Given the description of an element on the screen output the (x, y) to click on. 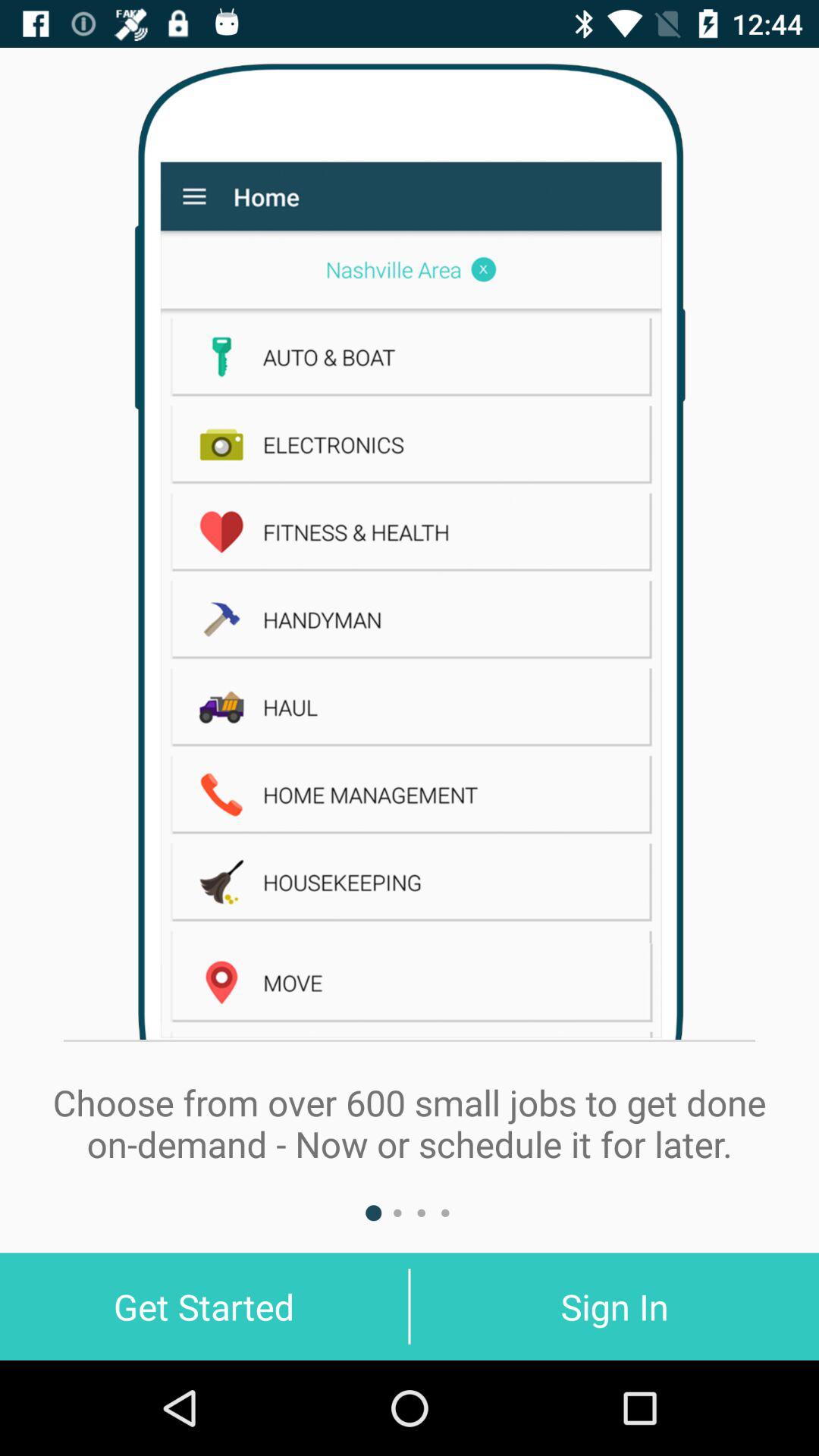
select the get started at the bottom left corner (204, 1306)
